Given the description of an element on the screen output the (x, y) to click on. 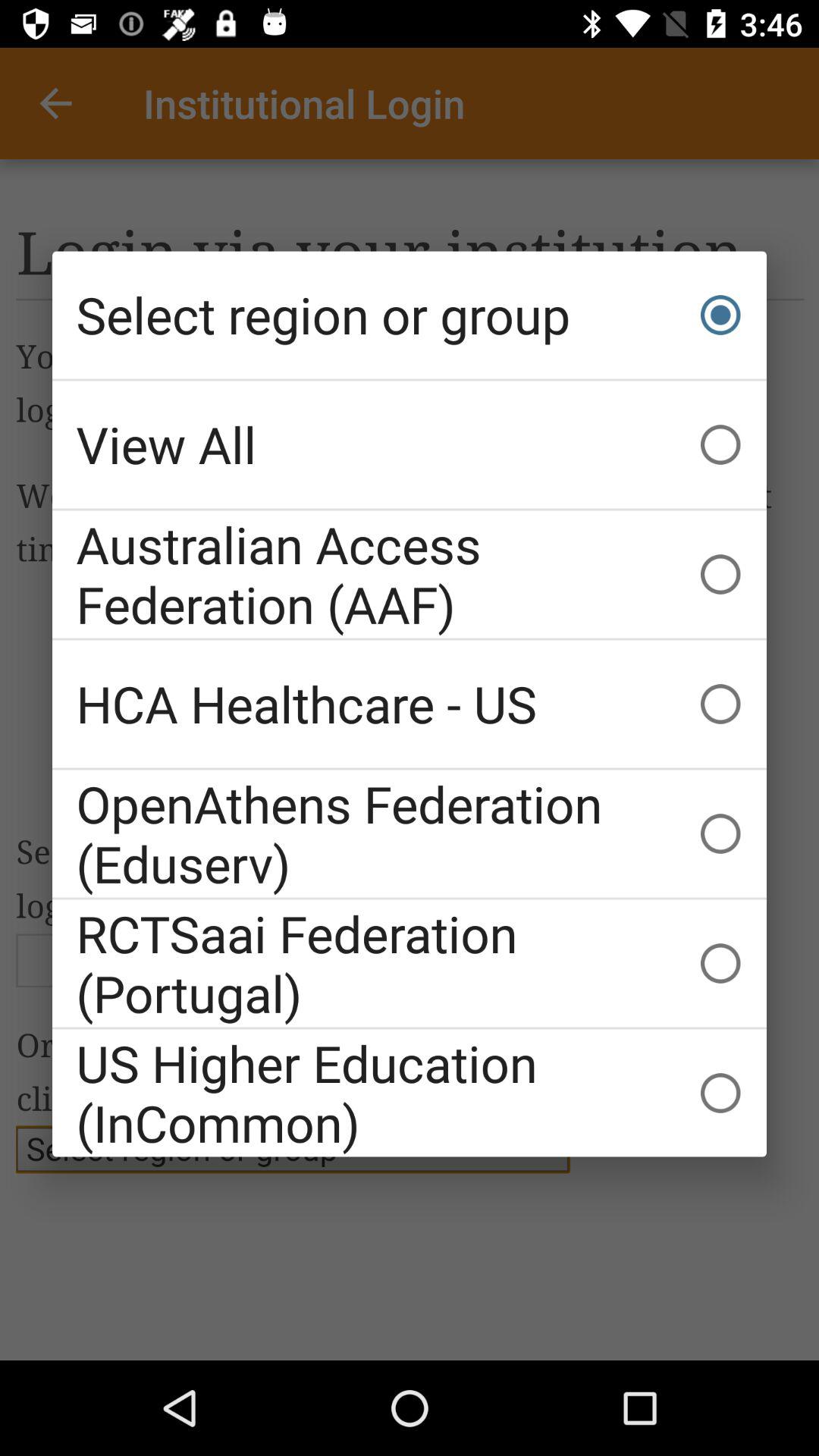
open item below the select region or icon (409, 444)
